Given the description of an element on the screen output the (x, y) to click on. 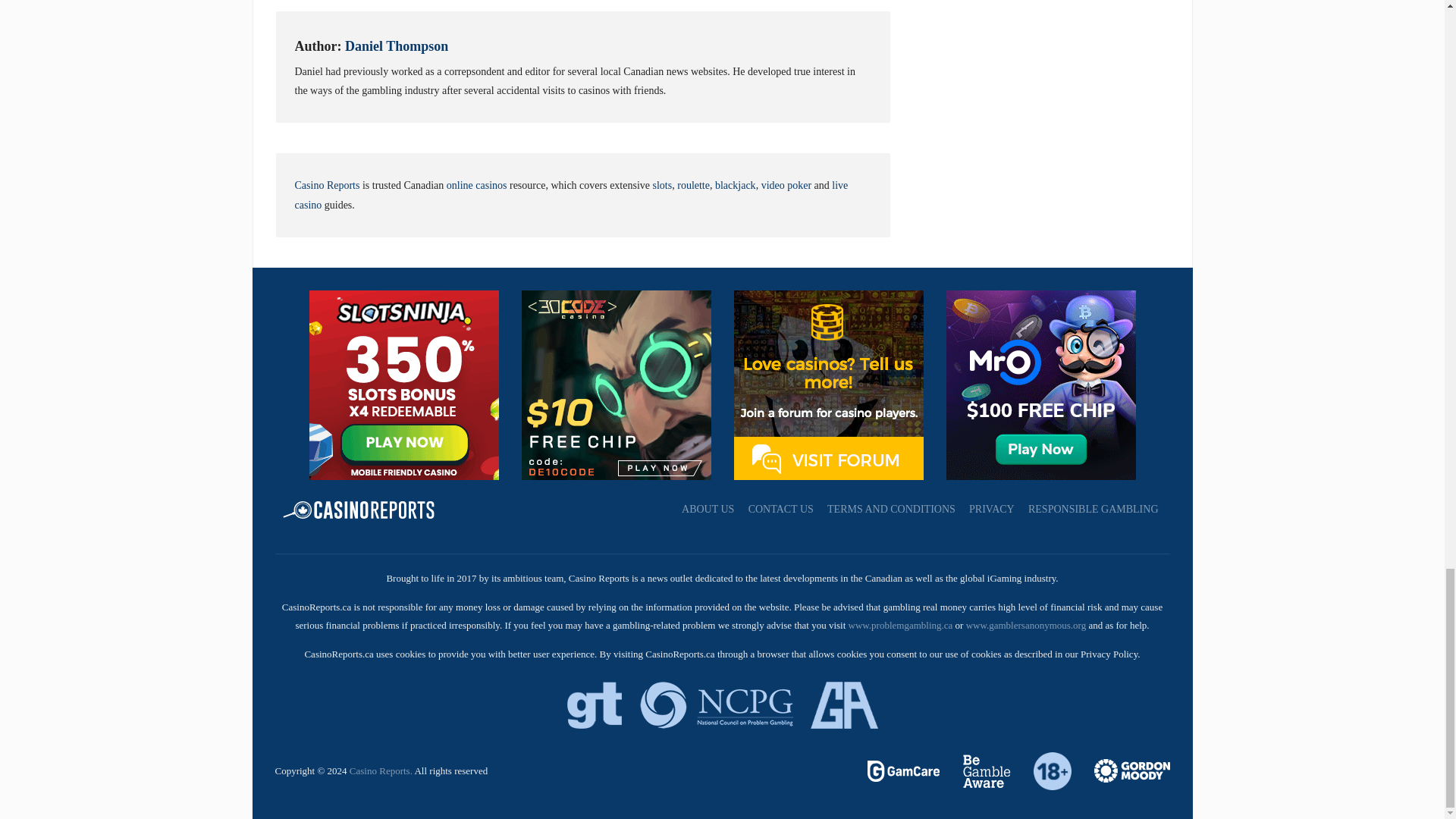
Game Care (904, 769)
Gambling Therapy (1121, 769)
Responsible Gambling (1043, 769)
Latest Casino Bonuses Forum (828, 383)
Gamble Aware (977, 769)
